Given the description of an element on the screen output the (x, y) to click on. 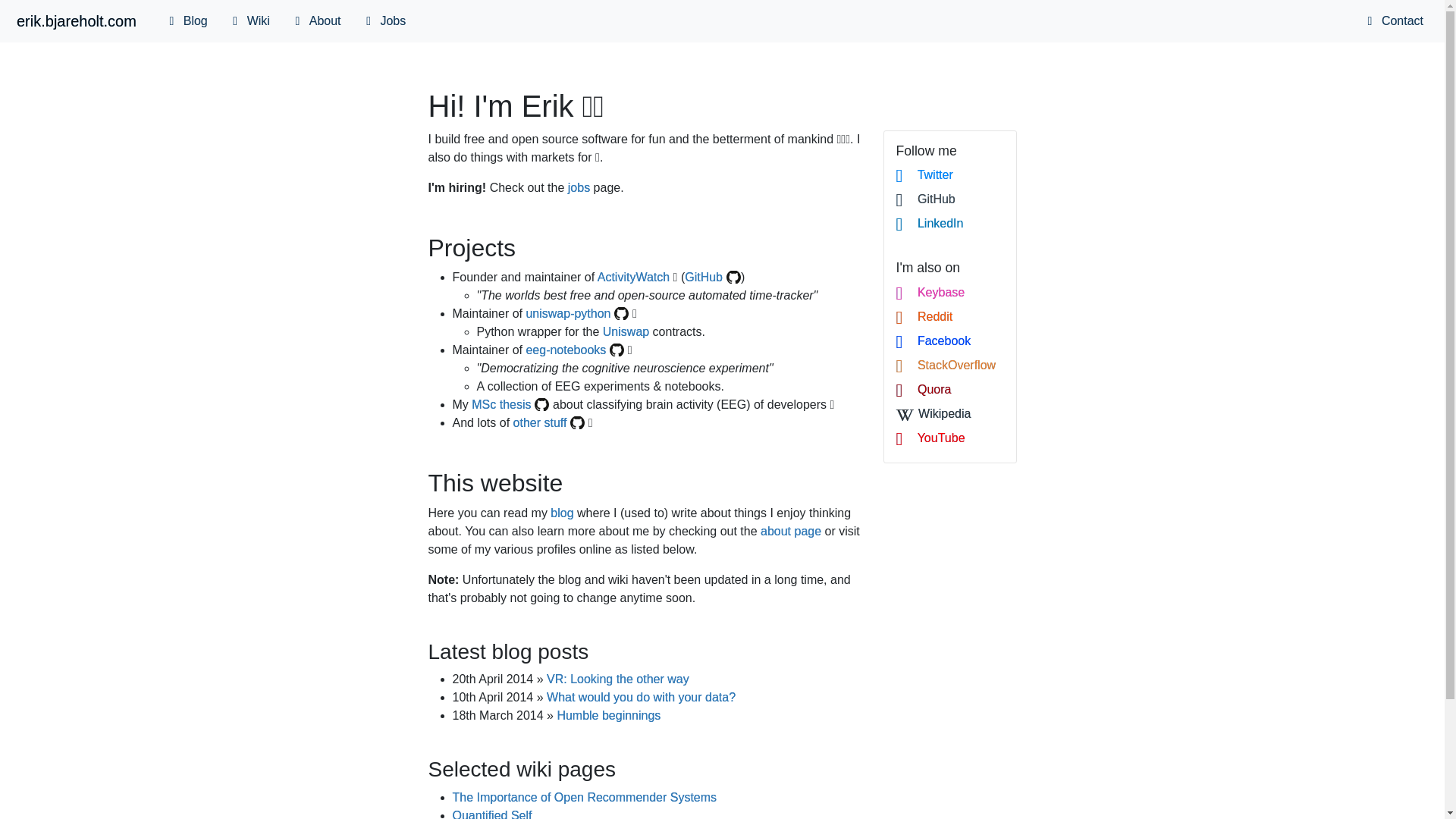
blog (561, 512)
Keybase (950, 292)
StackOverflow (950, 364)
eeg-notebooks (574, 349)
uniswap-python (576, 313)
Wikipedia (950, 413)
Jobs (384, 20)
Wiki (251, 20)
About (317, 20)
erik.bjareholt.com (76, 20)
Blog (187, 20)
LinkedIn (950, 223)
GitHub (950, 199)
Facebook (950, 340)
Reddit (950, 316)
